Given the description of an element on the screen output the (x, y) to click on. 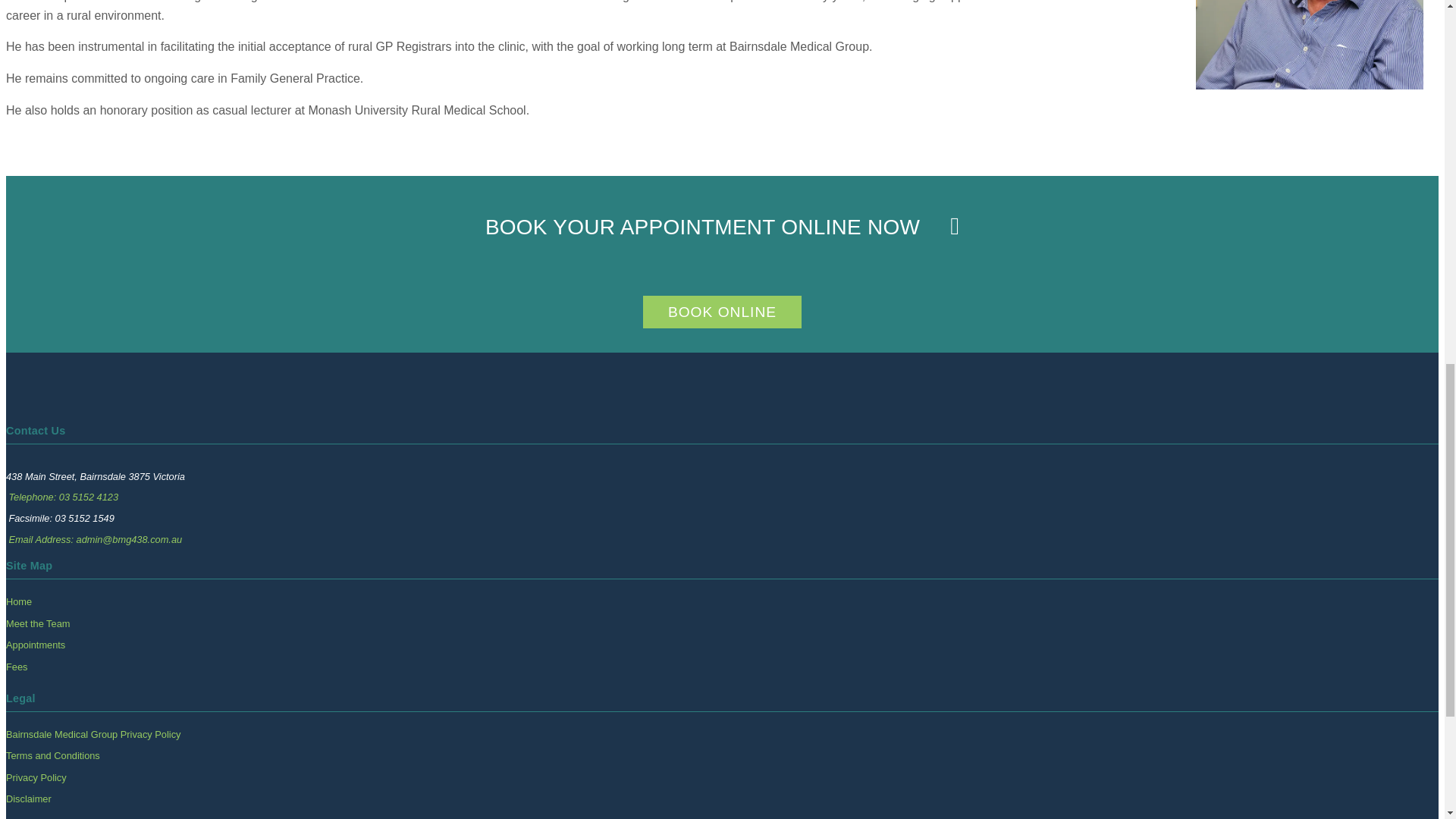
Dr Ross de Steiger (1309, 44)
BOOK ONLINE (722, 311)
Telephone: 03 5152 4123 (62, 496)
